Given the description of an element on the screen output the (x, y) to click on. 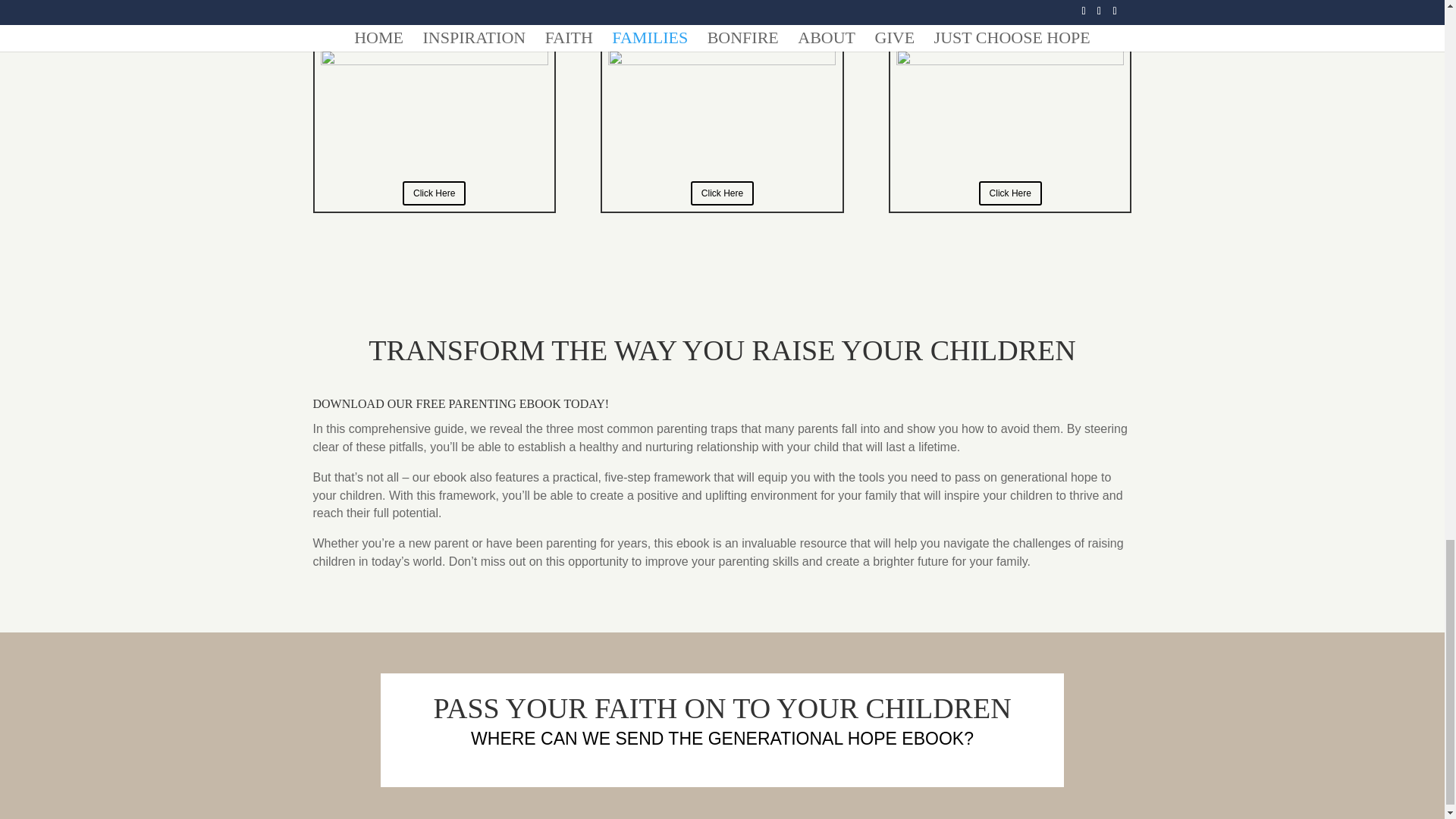
Click Here (722, 192)
Click Here (434, 192)
Click Here (1010, 192)
